Given the description of an element on the screen output the (x, y) to click on. 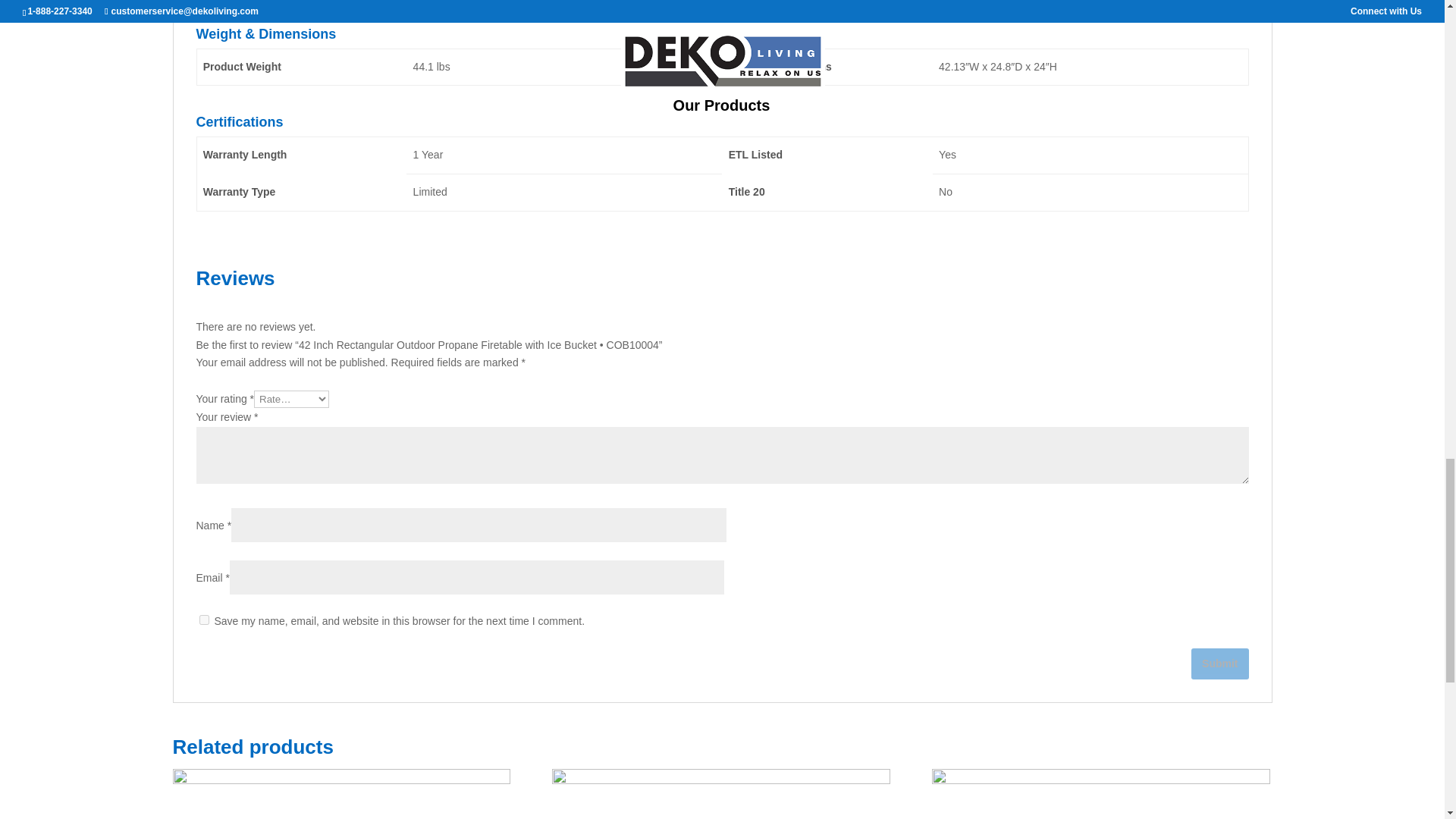
Submit (1219, 663)
yes (203, 619)
Submit (1219, 663)
